Given the description of an element on the screen output the (x, y) to click on. 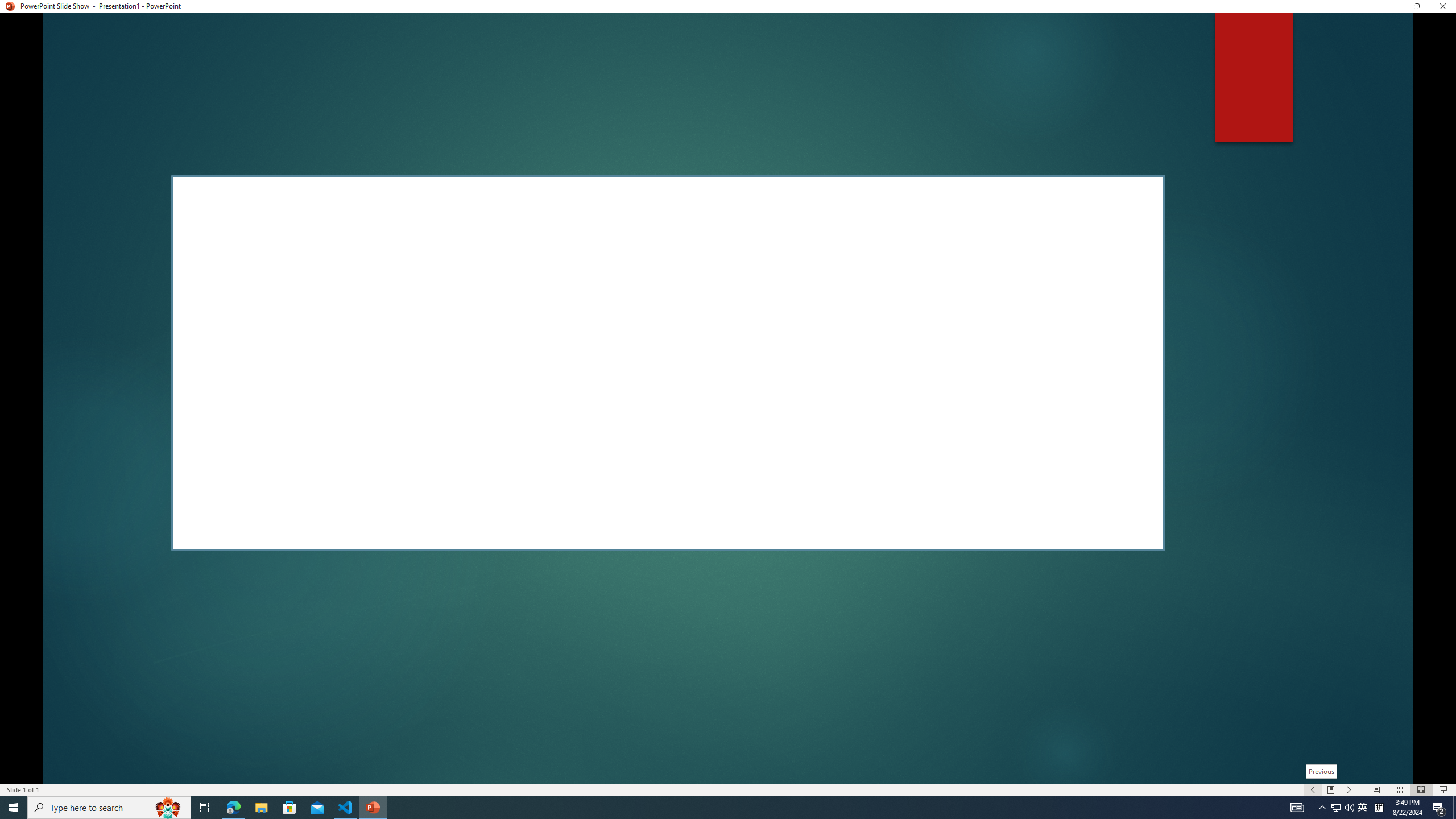
Slide Show Next On (1349, 790)
Menu On (1331, 790)
Previous (1321, 771)
Slide Show Previous On (1313, 790)
